Given the description of an element on the screen output the (x, y) to click on. 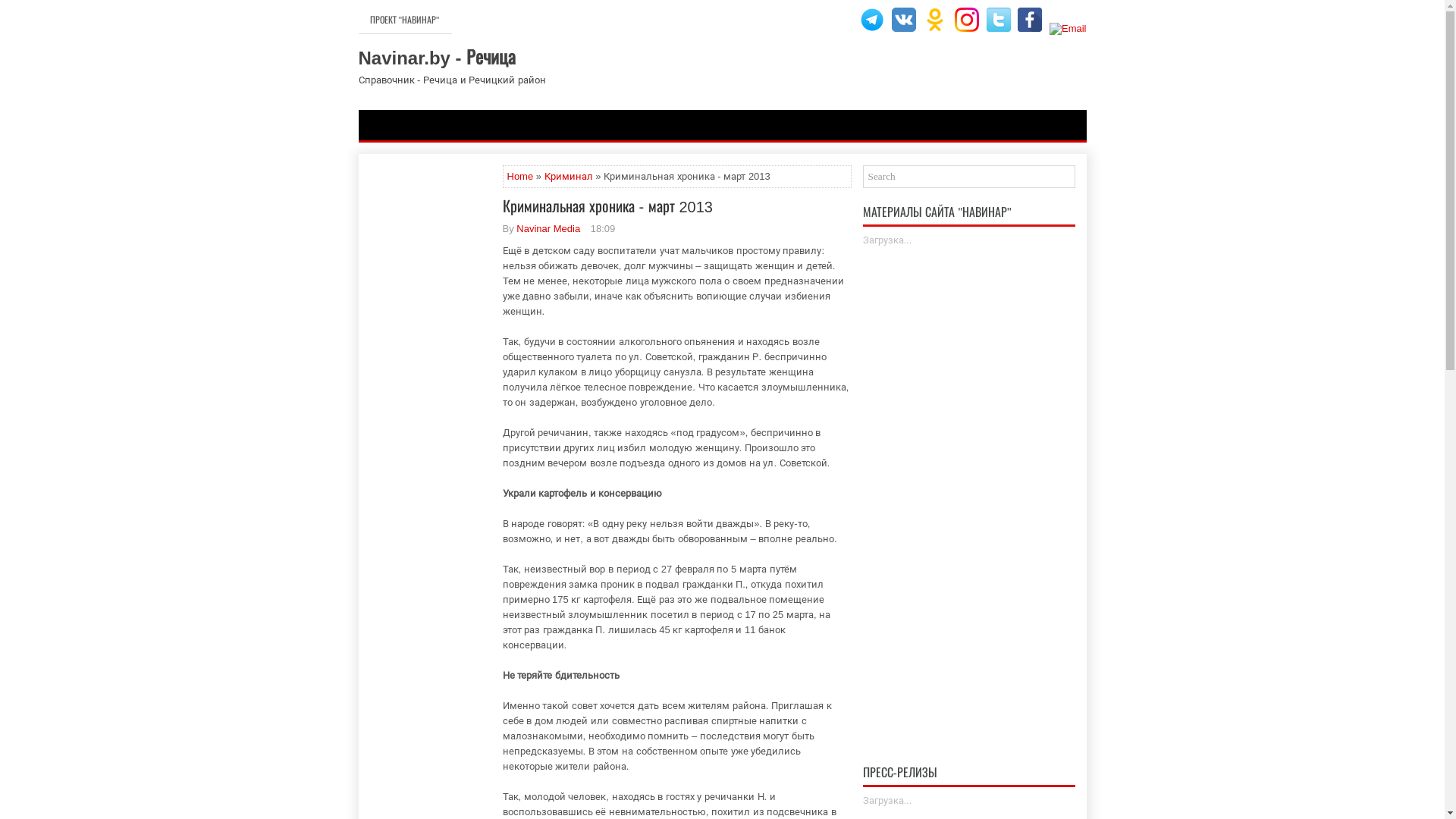
Instaram Element type: hover (966, 19)
Odnoklassniki Element type: hover (934, 19)
Facebook Element type: hover (1029, 19)
Telegram Element type: hover (871, 19)
Twitter Element type: hover (998, 19)
Navinar Media Element type: text (548, 228)
VKontakte Element type: hover (903, 19)
Type and hit enter Element type: hover (968, 176)
Email Element type: hover (1067, 28)
Home Element type: text (519, 176)
